Given the description of an element on the screen output the (x, y) to click on. 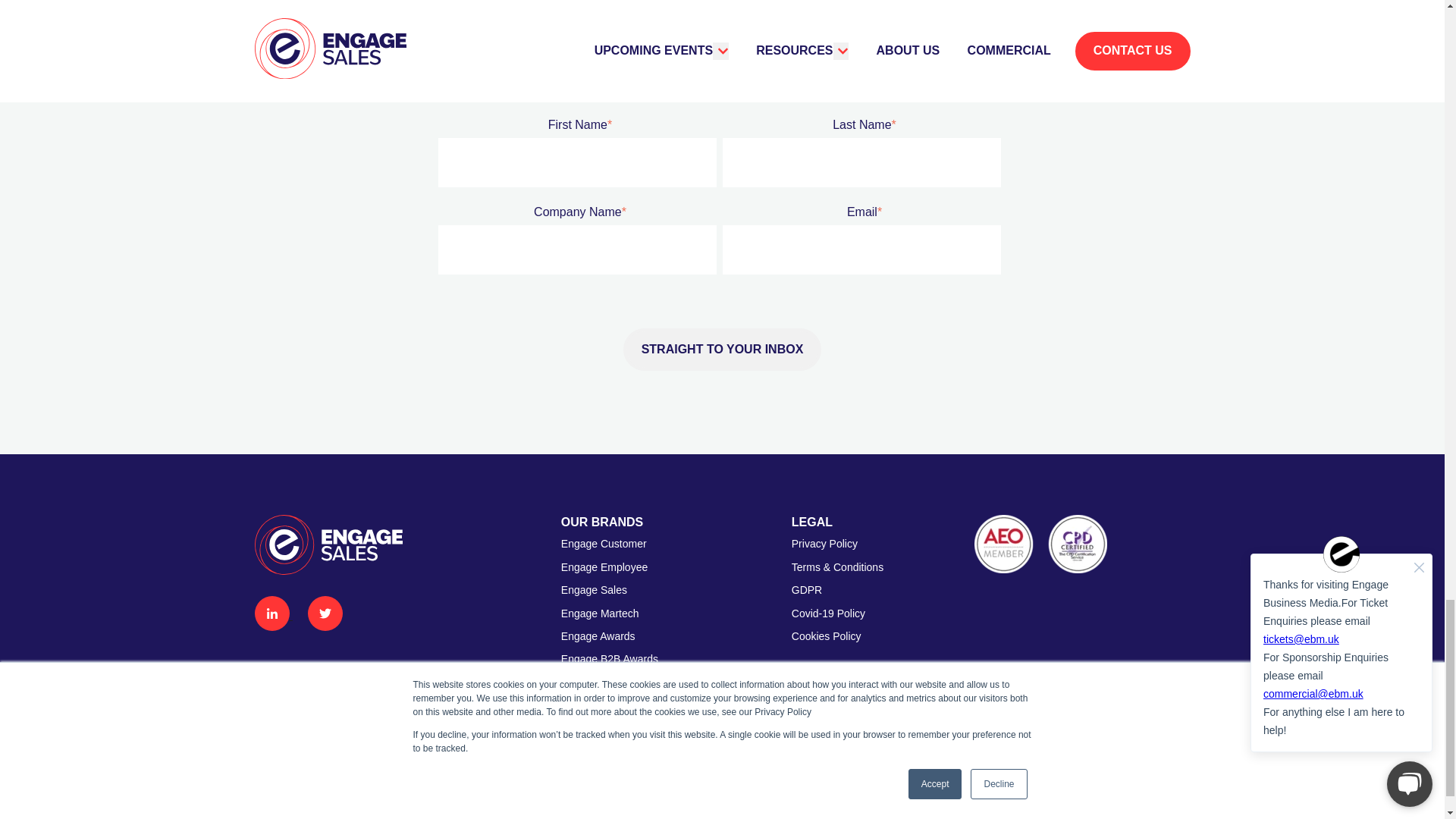
STRAIGHT TO YOUR INBOX (722, 349)
engage-business-media (1121, 805)
engage-sales-logo (328, 544)
